Given the description of an element on the screen output the (x, y) to click on. 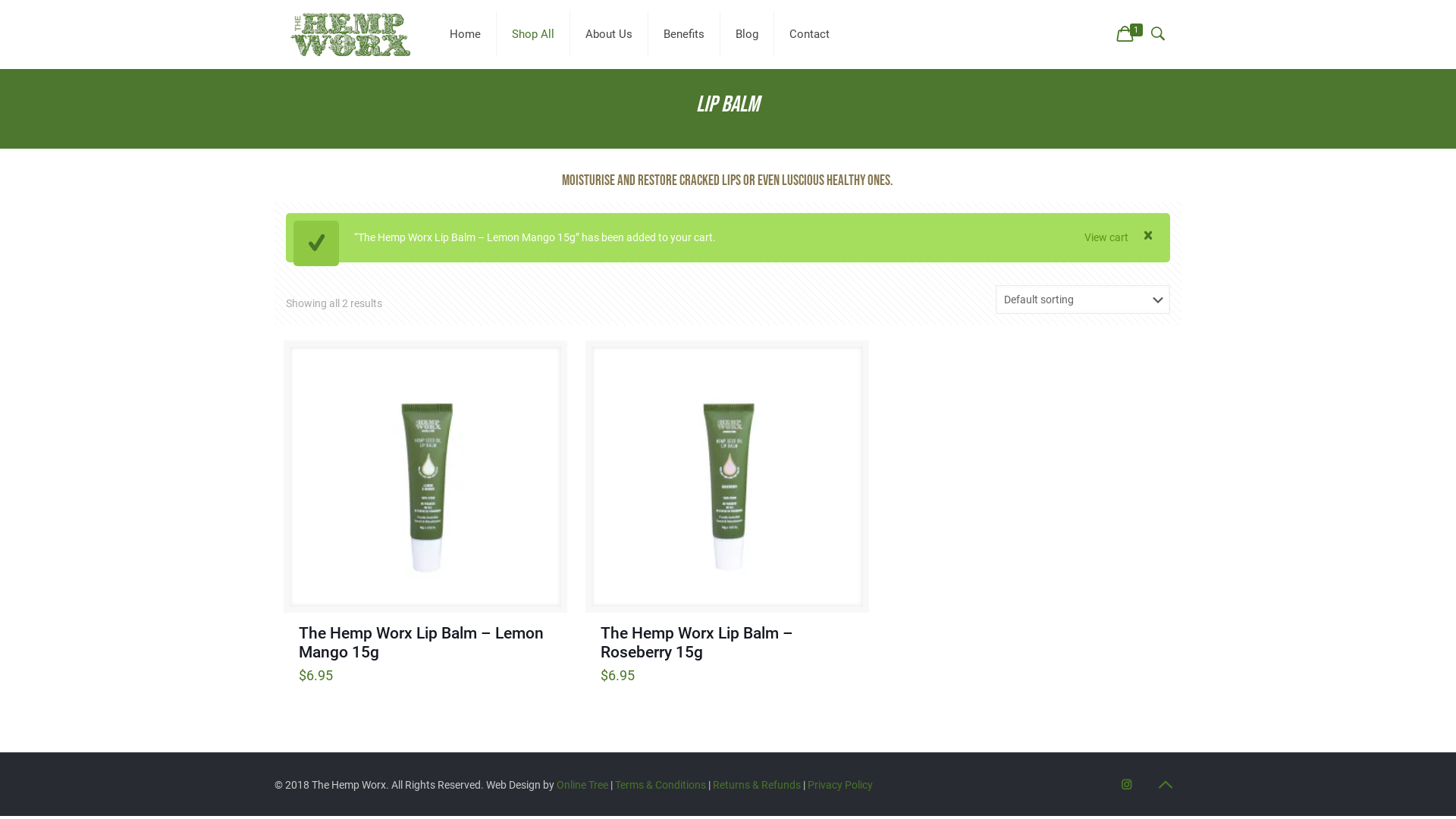
Shop All Element type: text (533, 34)
Benefits Element type: text (684, 34)
1 Element type: text (1131, 34)
Returns & Refunds Element type: text (756, 784)
Blog Element type: text (747, 34)
About Us Element type: text (609, 34)
Terms & Conditions Element type: text (660, 784)
View cart Element type: text (1106, 237)
Privacy Policy Element type: text (839, 784)
Instagram Element type: hover (1126, 784)
Home Element type: text (465, 34)
Contact Element type: text (809, 34)
Online Tree Element type: text (582, 784)
HempWorx Element type: hover (350, 34)
